Given the description of an element on the screen output the (x, y) to click on. 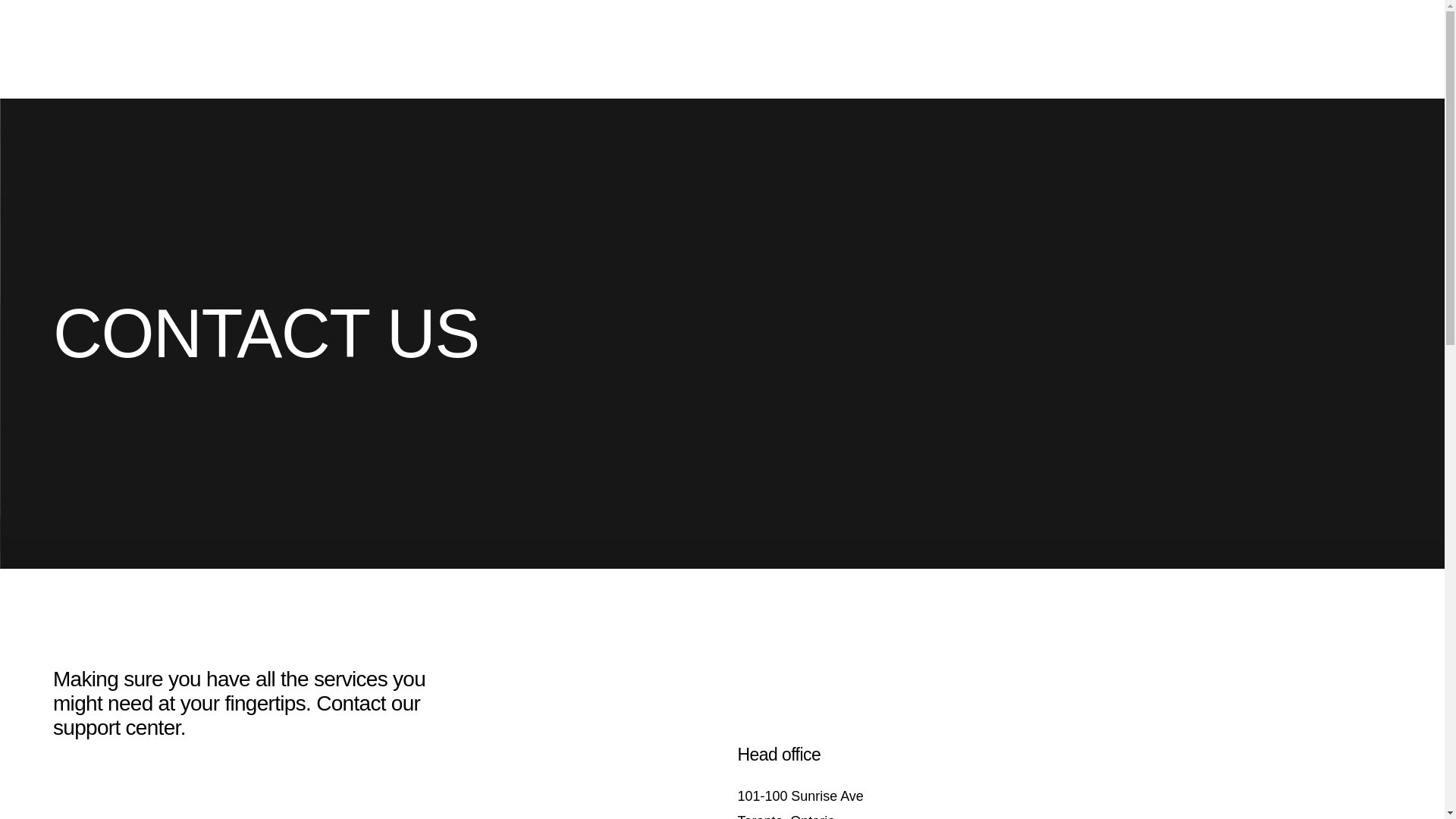
CONTACT US (1382, 29)
SERVICES (1095, 29)
ABOUT US (799, 803)
PROJECTS (1188, 29)
